Given the description of an element on the screen output the (x, y) to click on. 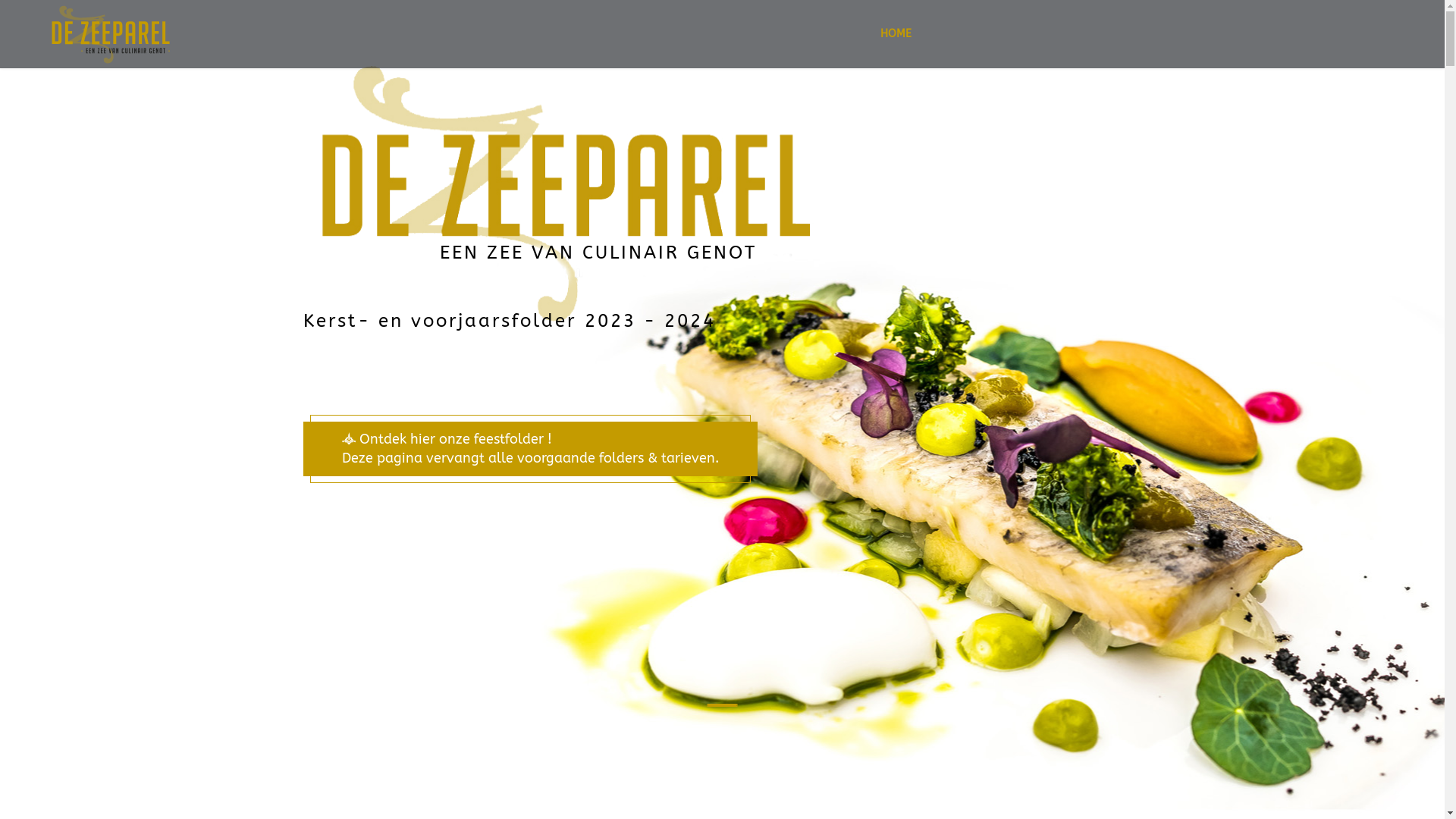
HOME Element type: text (895, 34)
